Given the description of an element on the screen output the (x, y) to click on. 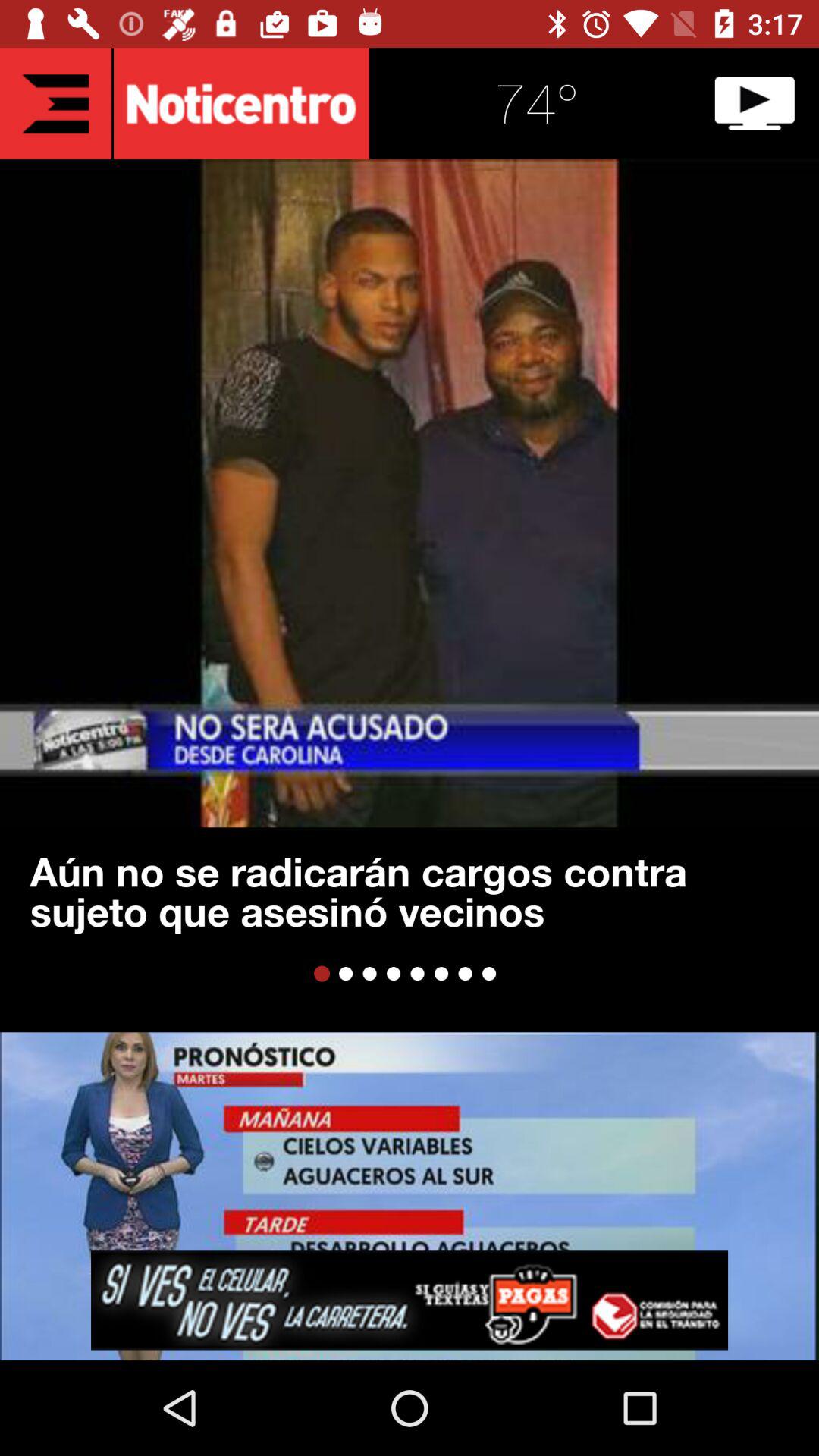
play video (754, 103)
